Given the description of an element on the screen output the (x, y) to click on. 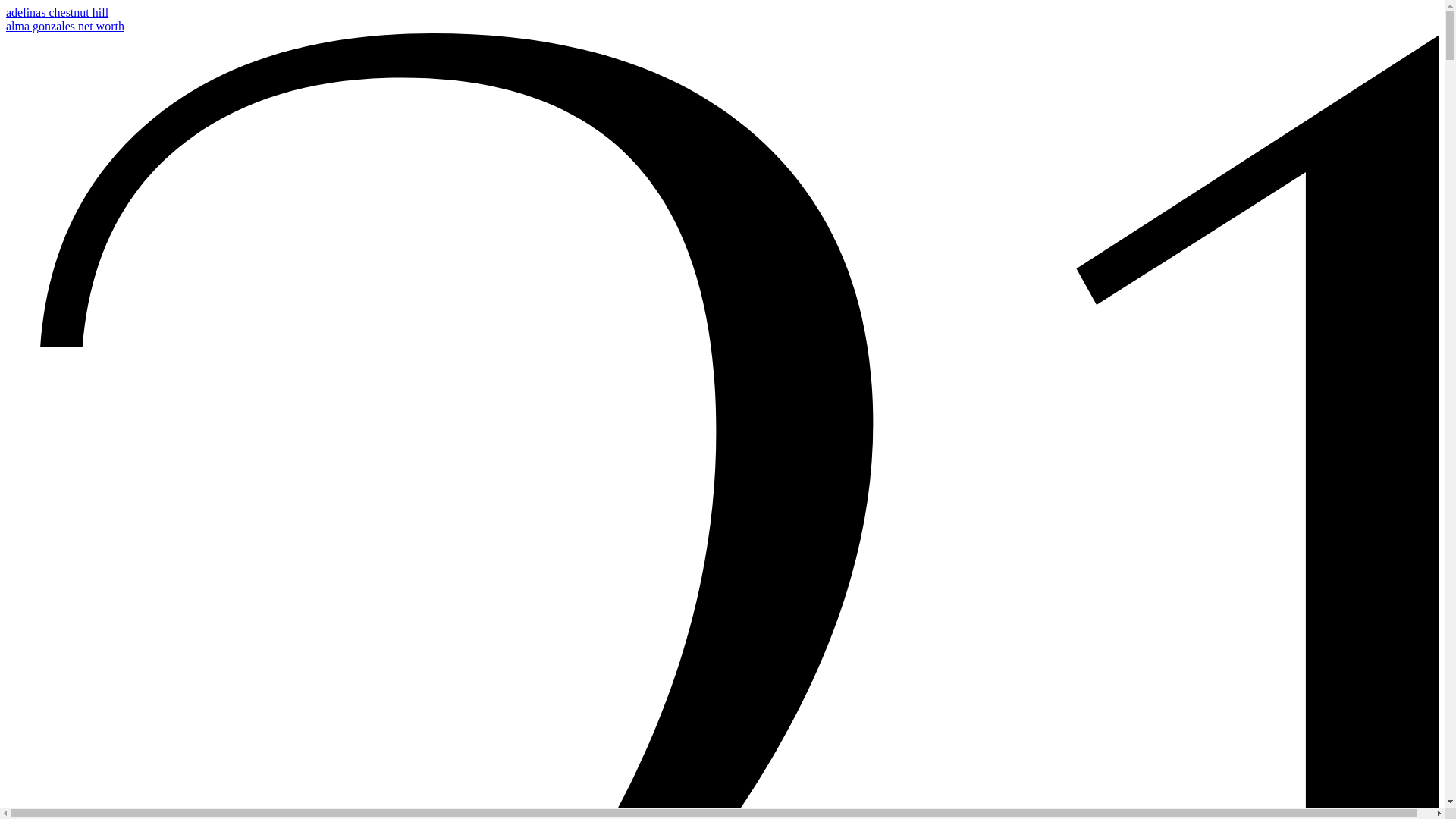
adelinas chestnut hill Element type: text (57, 12)
